Given the description of an element on the screen output the (x, y) to click on. 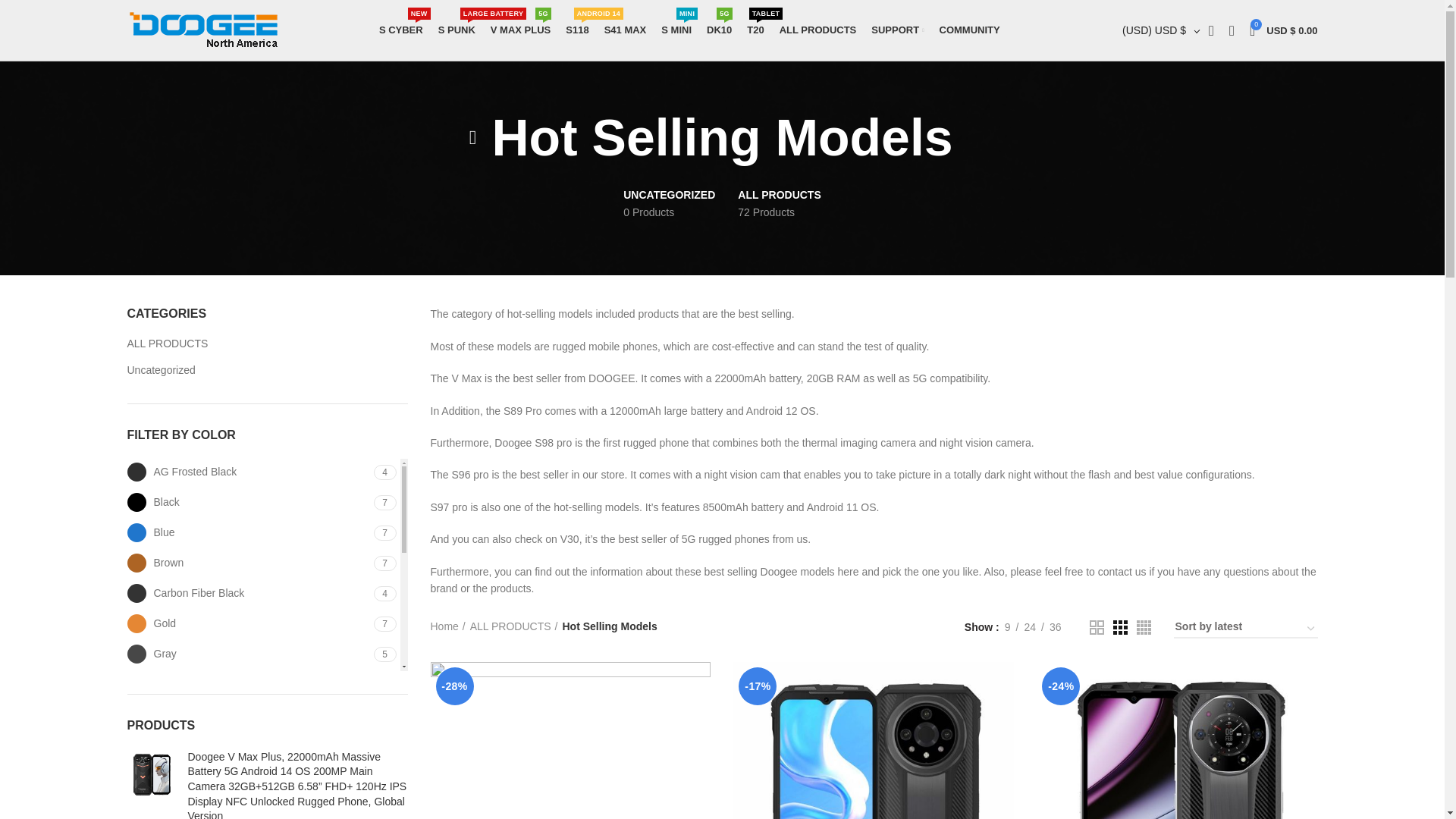
Shopping cart (1282, 30)
COMMUNITY (400, 30)
S41 MAX (576, 30)
ALL PRODUCTS (718, 30)
